Given the description of an element on the screen output the (x, y) to click on. 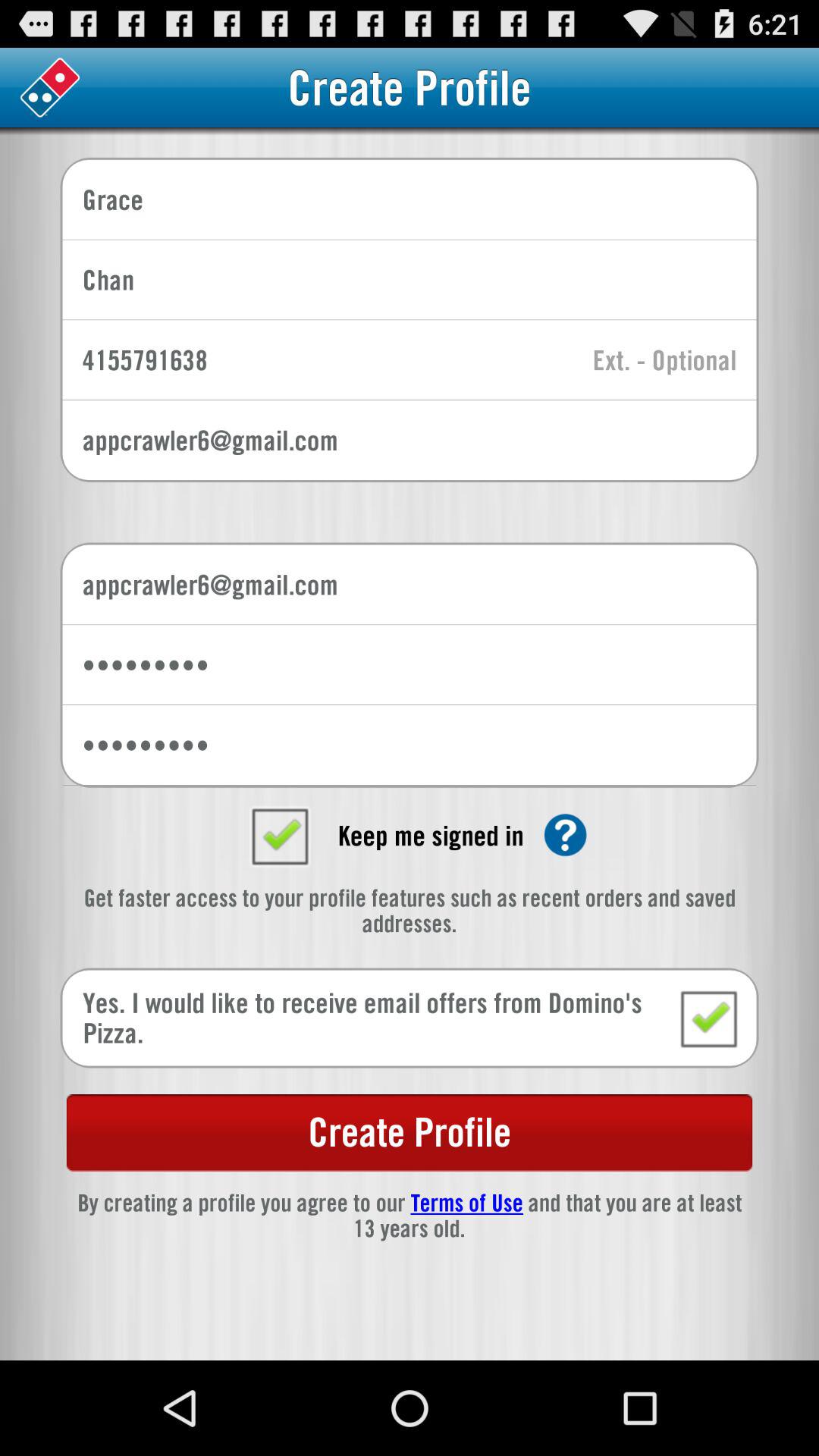
home (49, 87)
